Given the description of an element on the screen output the (x, y) to click on. 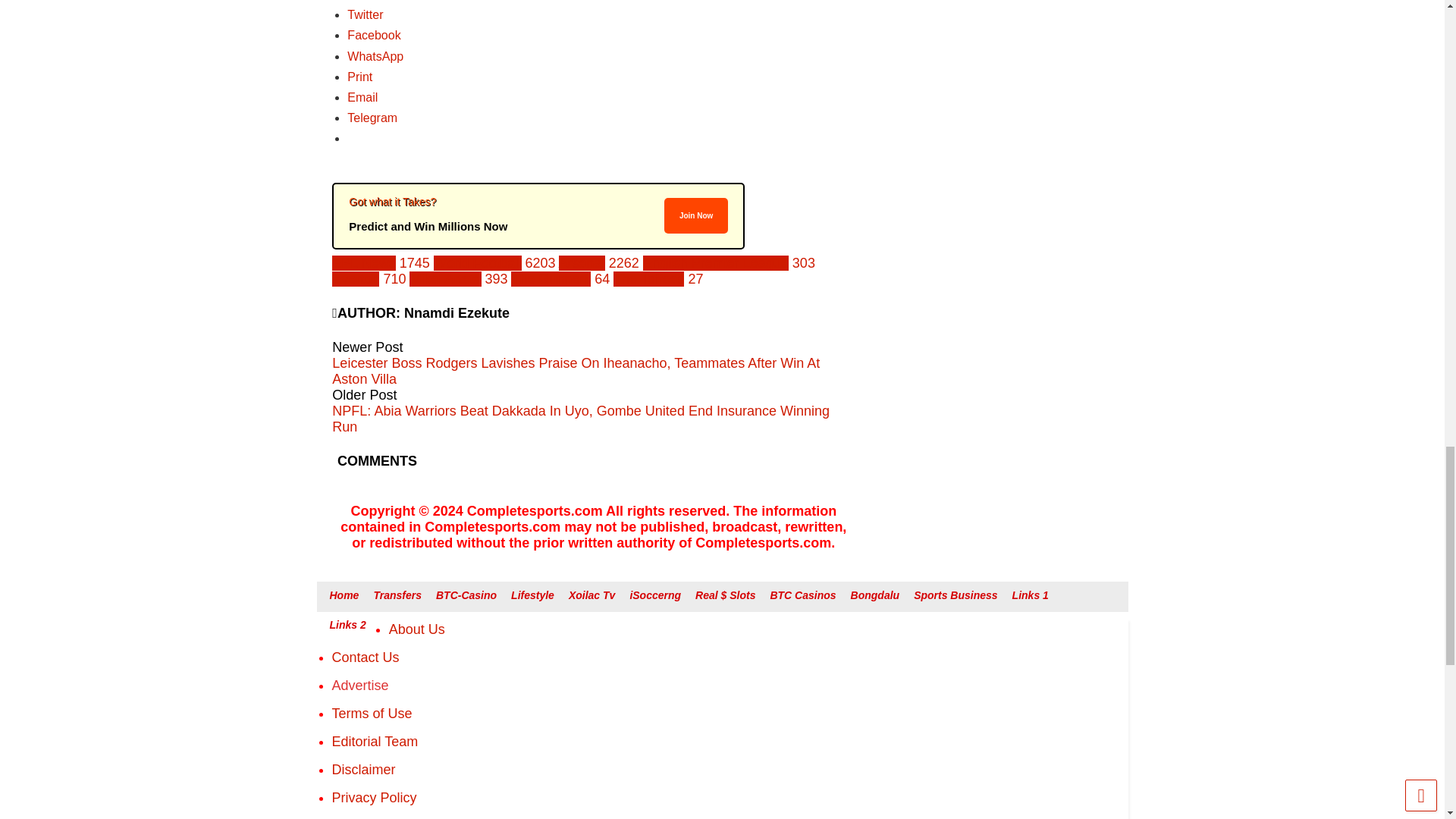
Click to share on Twitter (364, 14)
Click to print (359, 76)
Click to share on WhatsApp (375, 56)
Click to share on Facebook (373, 34)
Click to email a link to a friend (362, 97)
Click to share on Telegram (372, 117)
